Given the description of an element on the screen output the (x, y) to click on. 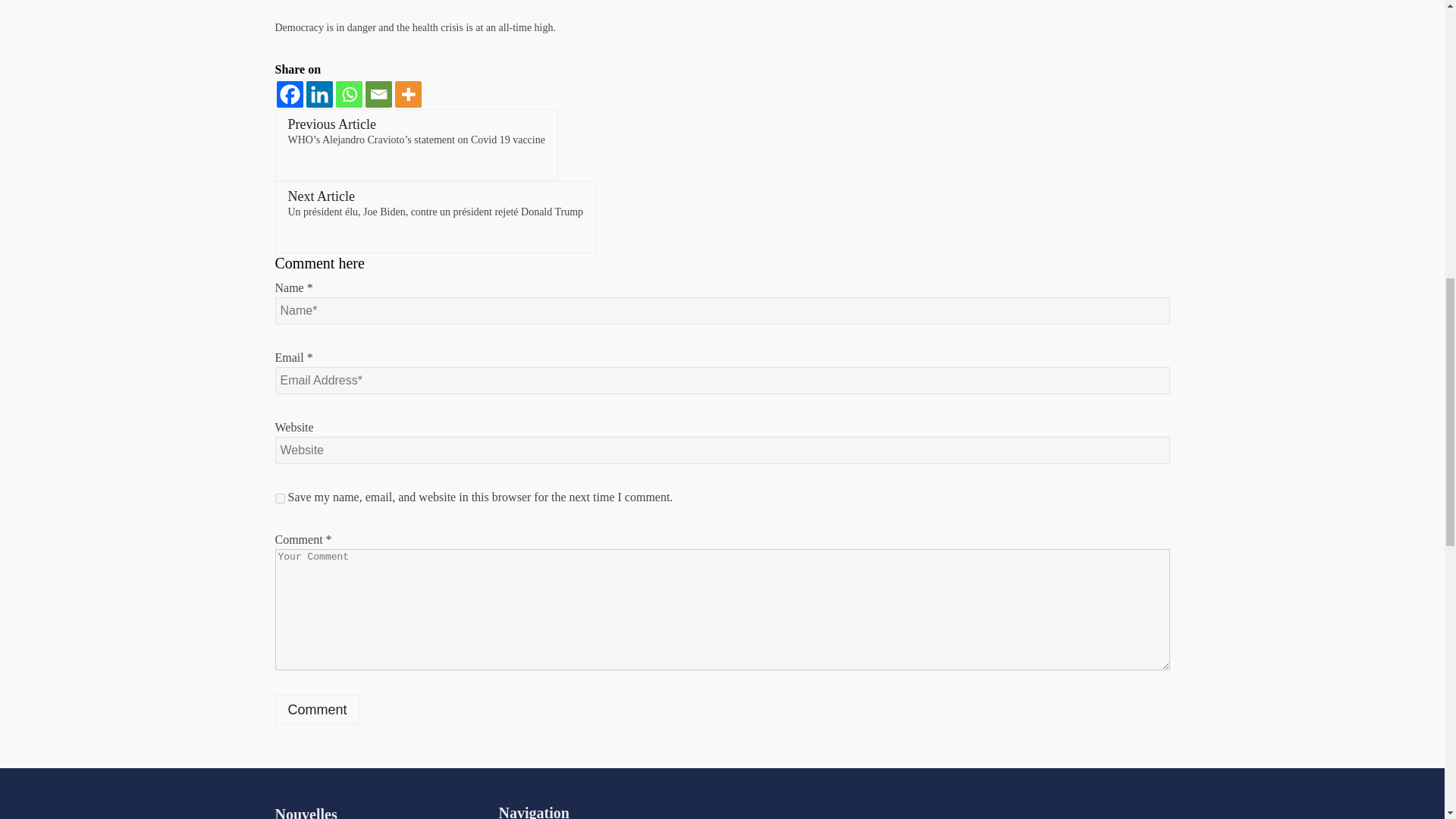
Comment (317, 709)
Whatsapp (347, 94)
yes (279, 498)
Linkedin (319, 94)
Facebook (289, 94)
More (407, 94)
Email (378, 94)
